Given the description of an element on the screen output the (x, y) to click on. 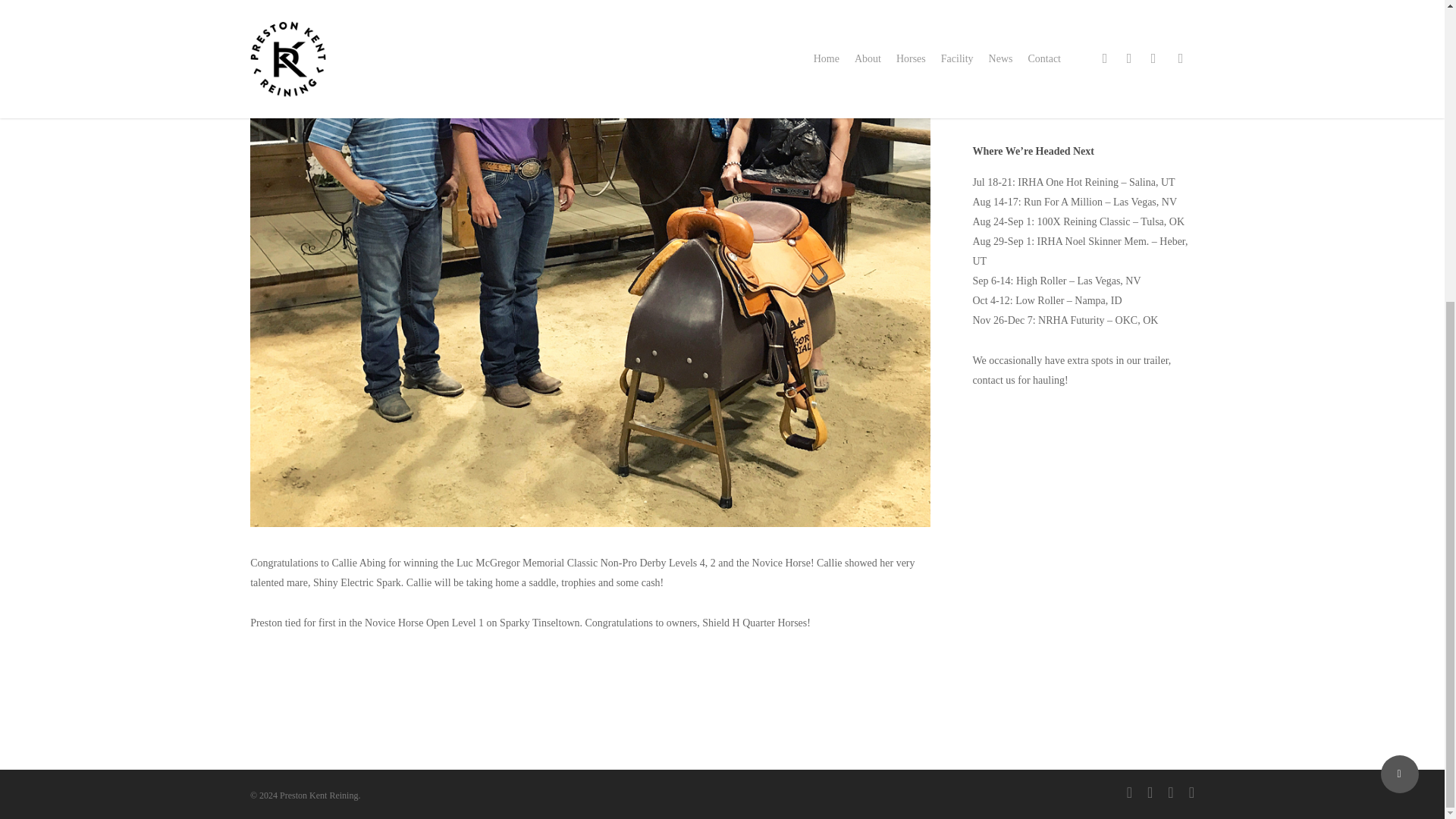
2023 Reining By The Bay Results (1082, 23)
2023 Show Schedule (1082, 68)
